Given the description of an element on the screen output the (x, y) to click on. 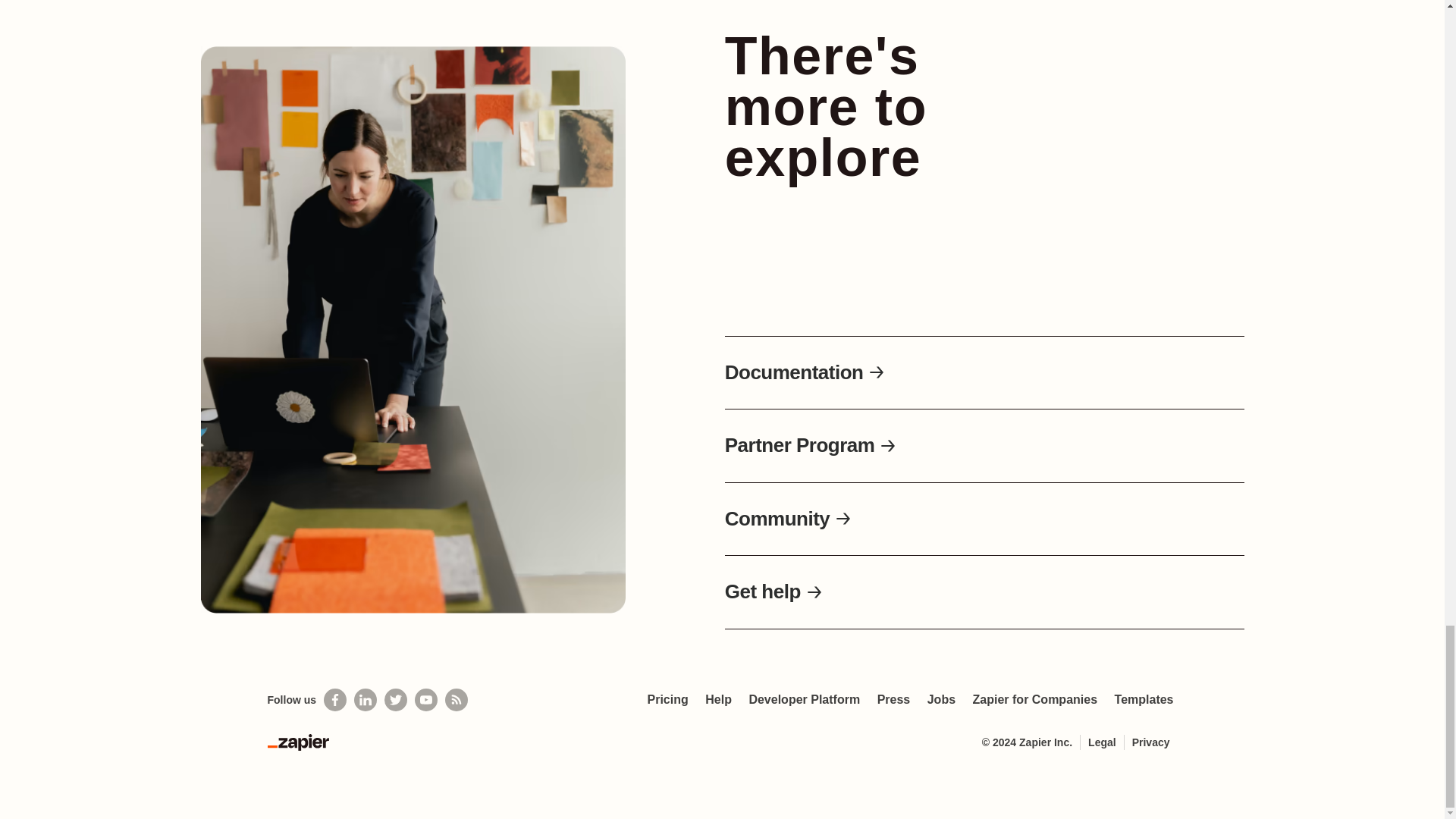
Privacy (1150, 742)
Documentation (805, 373)
Get help (774, 591)
Templates (1143, 698)
Developer Platform (803, 698)
Pricing (667, 698)
See helpful Zapier videos on Youtube (426, 699)
Jobs (941, 698)
Press (893, 698)
Community (789, 518)
